Given the description of an element on the screen output the (x, y) to click on. 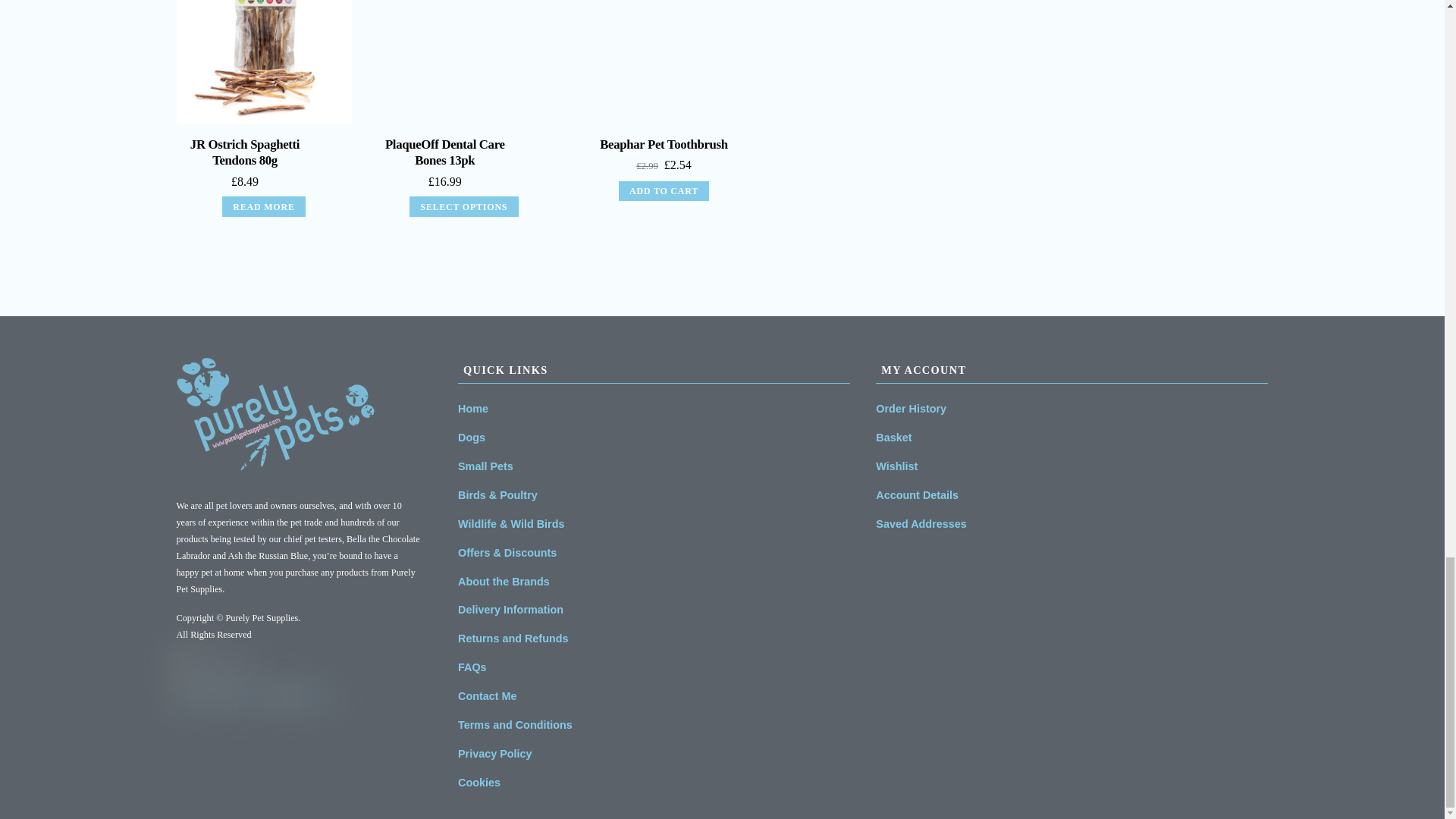
Beaphar Toothbrush (663, 62)
JR Ostrich Spaghetti Tendons 80g (263, 62)
PlaqueOff Dental Care Bones (463, 62)
